Given the description of an element on the screen output the (x, y) to click on. 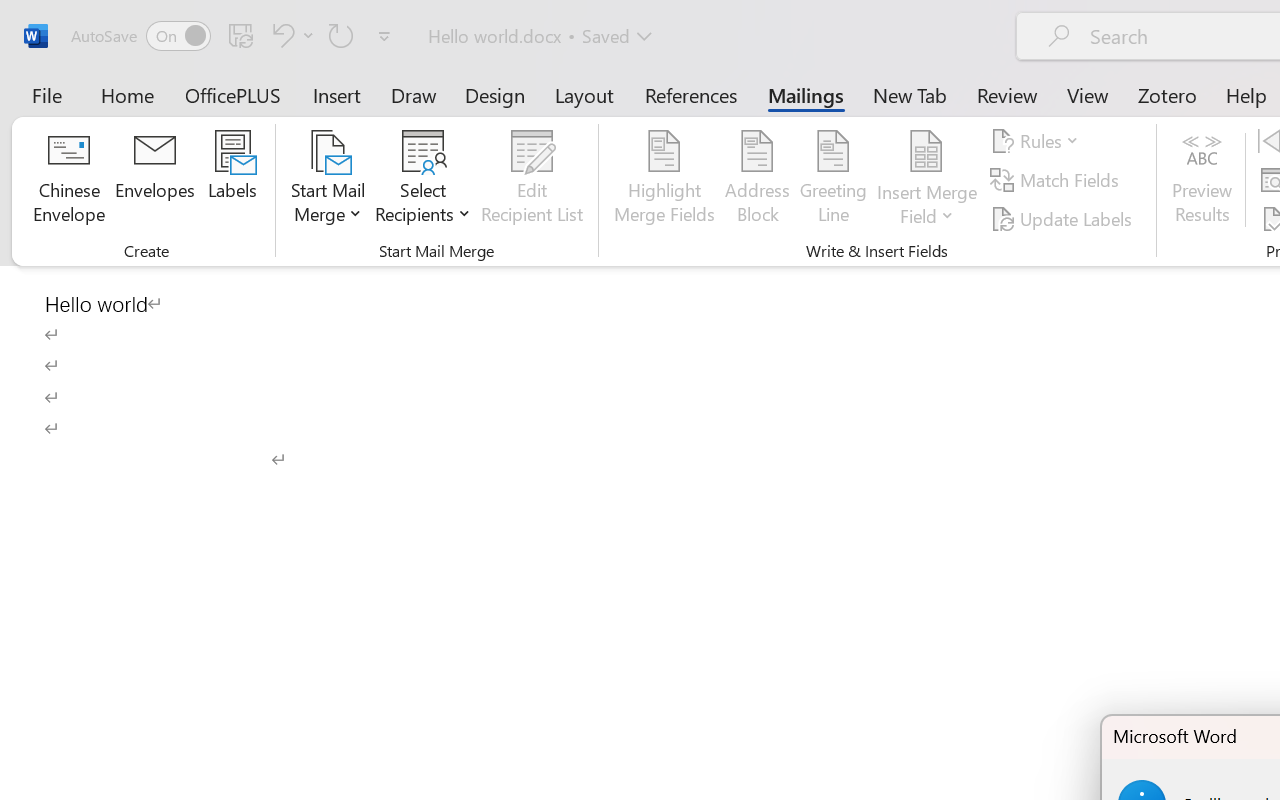
Layout (584, 94)
File Tab (46, 94)
Rules (1037, 141)
Insert Merge Field (927, 151)
Zotero (1166, 94)
Insert Merge Field (927, 179)
Save (241, 35)
OfficePLUS (233, 94)
Start Mail Merge (328, 179)
Select Recipients (423, 179)
Customize Quick Access Toolbar (384, 35)
Match Fields... (1057, 179)
Review (1007, 94)
New Tab (909, 94)
Can't Repeat (341, 35)
